Given the description of an element on the screen output the (x, y) to click on. 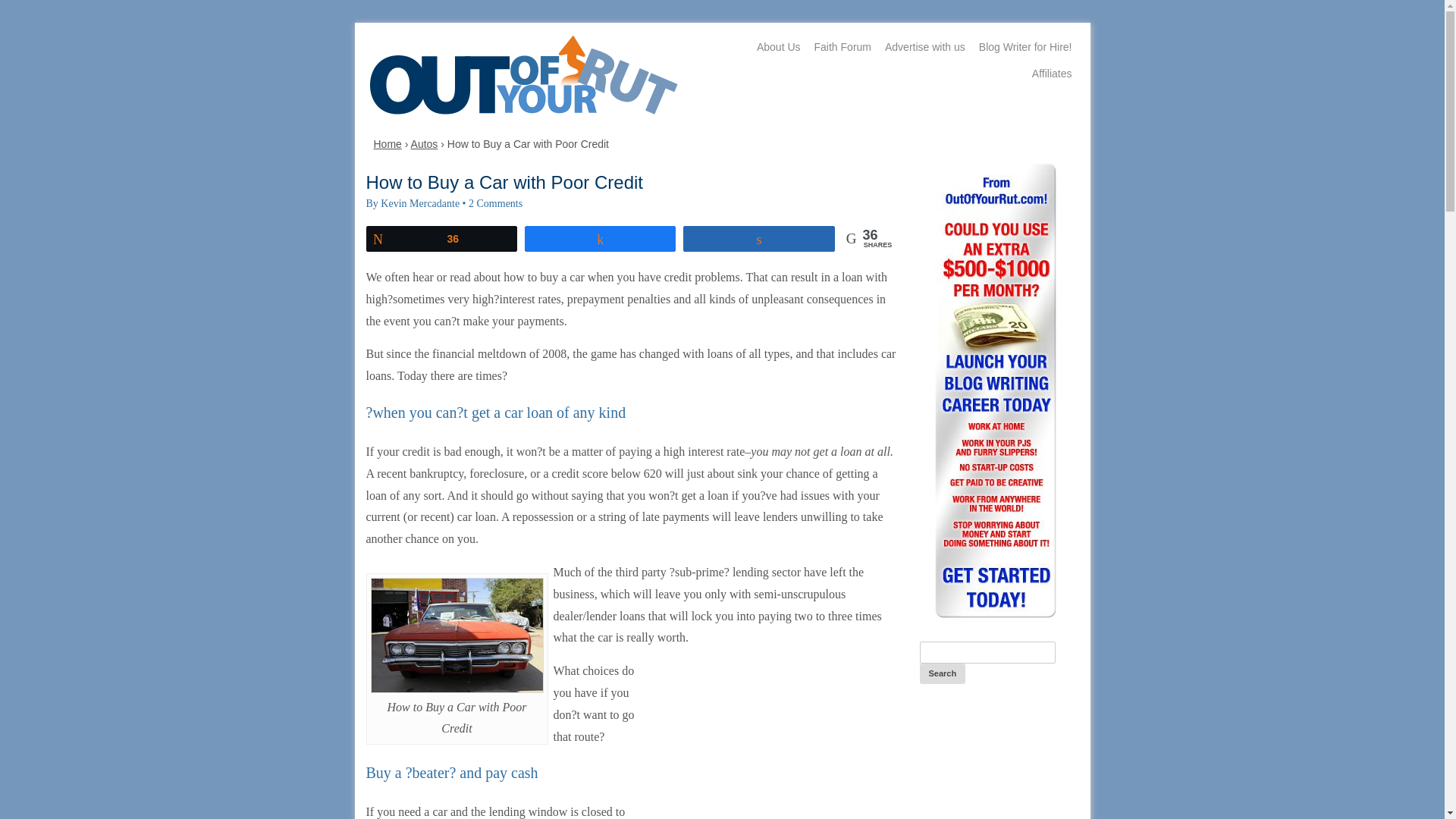
Faith Forum (842, 47)
Autos (424, 143)
2 Comments (495, 203)
Advertise with us (924, 47)
Search (941, 673)
About Us (778, 47)
36 (441, 237)
How to Buy a Car with Poor Credit  (456, 635)
Blog Writer for Hire! (1025, 47)
Search (941, 673)
